Given the description of an element on the screen output the (x, y) to click on. 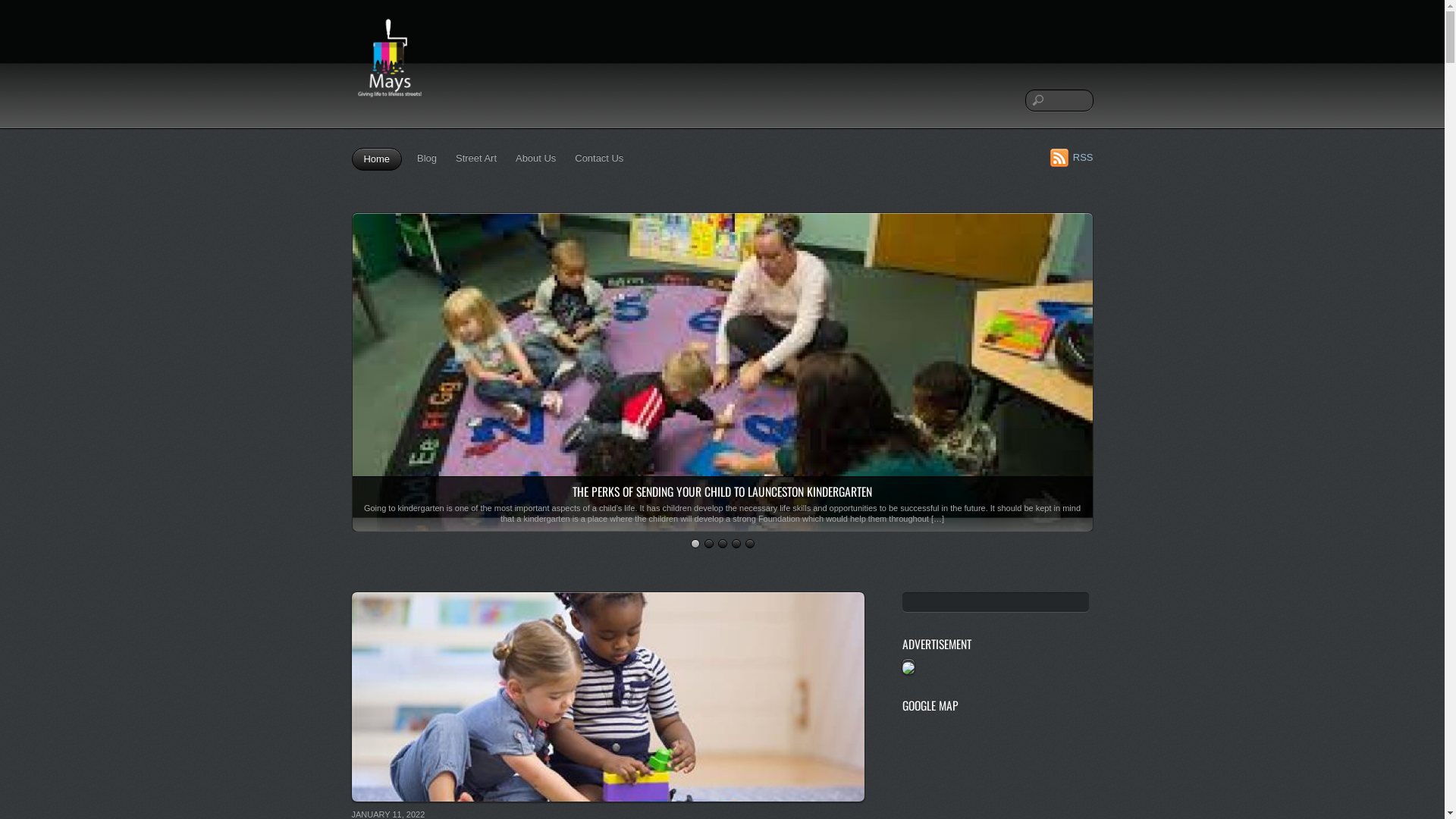
2 Element type: text (707, 543)
Search Element type: hover (995, 602)
THE PERKS OF SENDING YOUR CHILD TO LAUNCESTON KINDERGARTEN Element type: text (722, 491)
4 Element type: text (735, 543)
5 Element type: text (748, 543)
The perks of sending your child to Launceston Kindergarten Element type: hover (721, 523)
RSS Element type: text (1071, 156)
Home Element type: text (376, 158)
Search Element type: hover (1059, 100)
Mays Element type: hover (389, 63)
1 Element type: text (694, 543)
Blog Element type: text (426, 158)
Contact Us Element type: text (599, 158)
About Us Element type: text (535, 158)
Street Art Element type: text (475, 158)
Mays Element type: hover (389, 103)
3 Element type: text (721, 543)
